Given the description of an element on the screen output the (x, y) to click on. 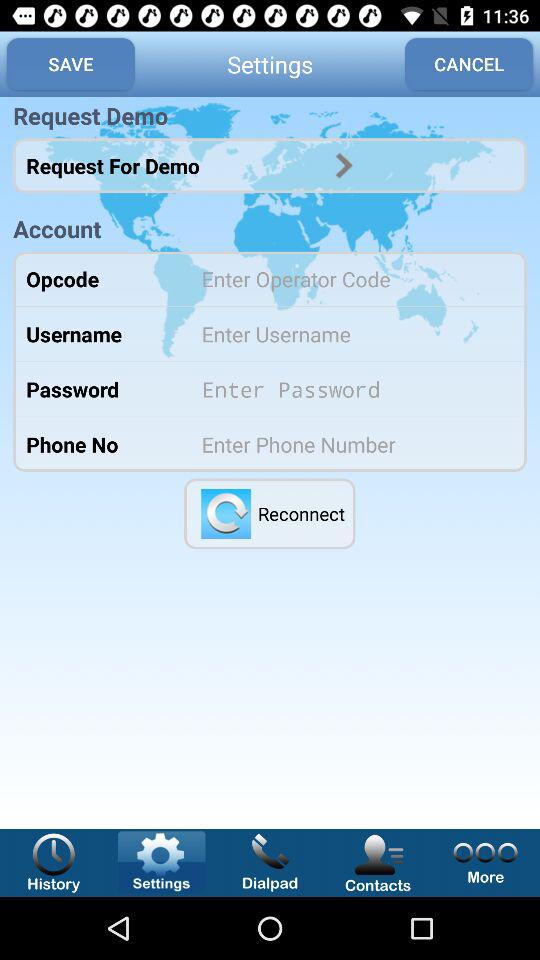
toggle name option (350, 333)
